Given the description of an element on the screen output the (x, y) to click on. 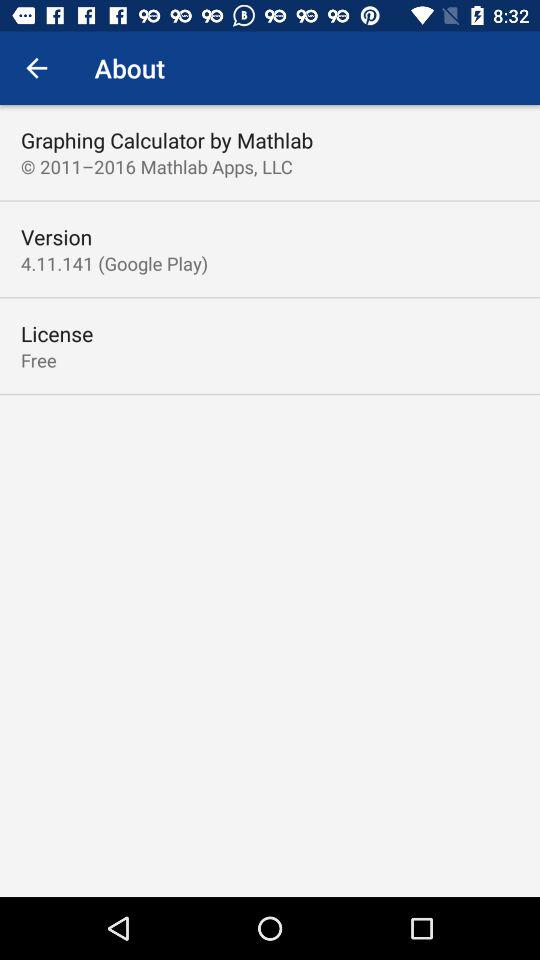
launch the version icon (56, 236)
